Given the description of an element on the screen output the (x, y) to click on. 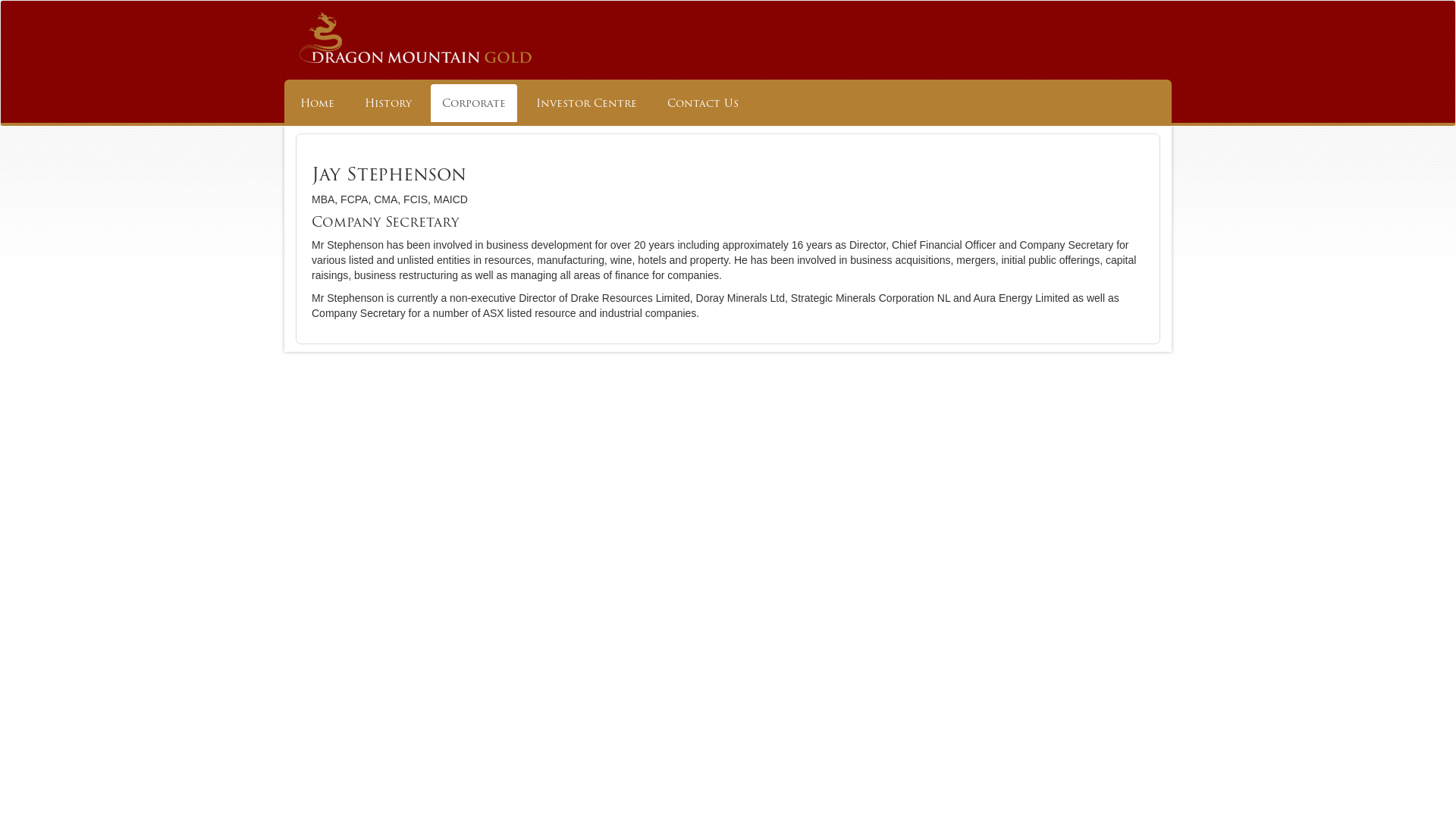
History Element type: text (388, 103)
Contact Us Element type: text (702, 103)
Home Element type: text (316, 103)
Corporate Element type: text (473, 103)
Investor Centre Element type: text (586, 103)
